Given the description of an element on the screen output the (x, y) to click on. 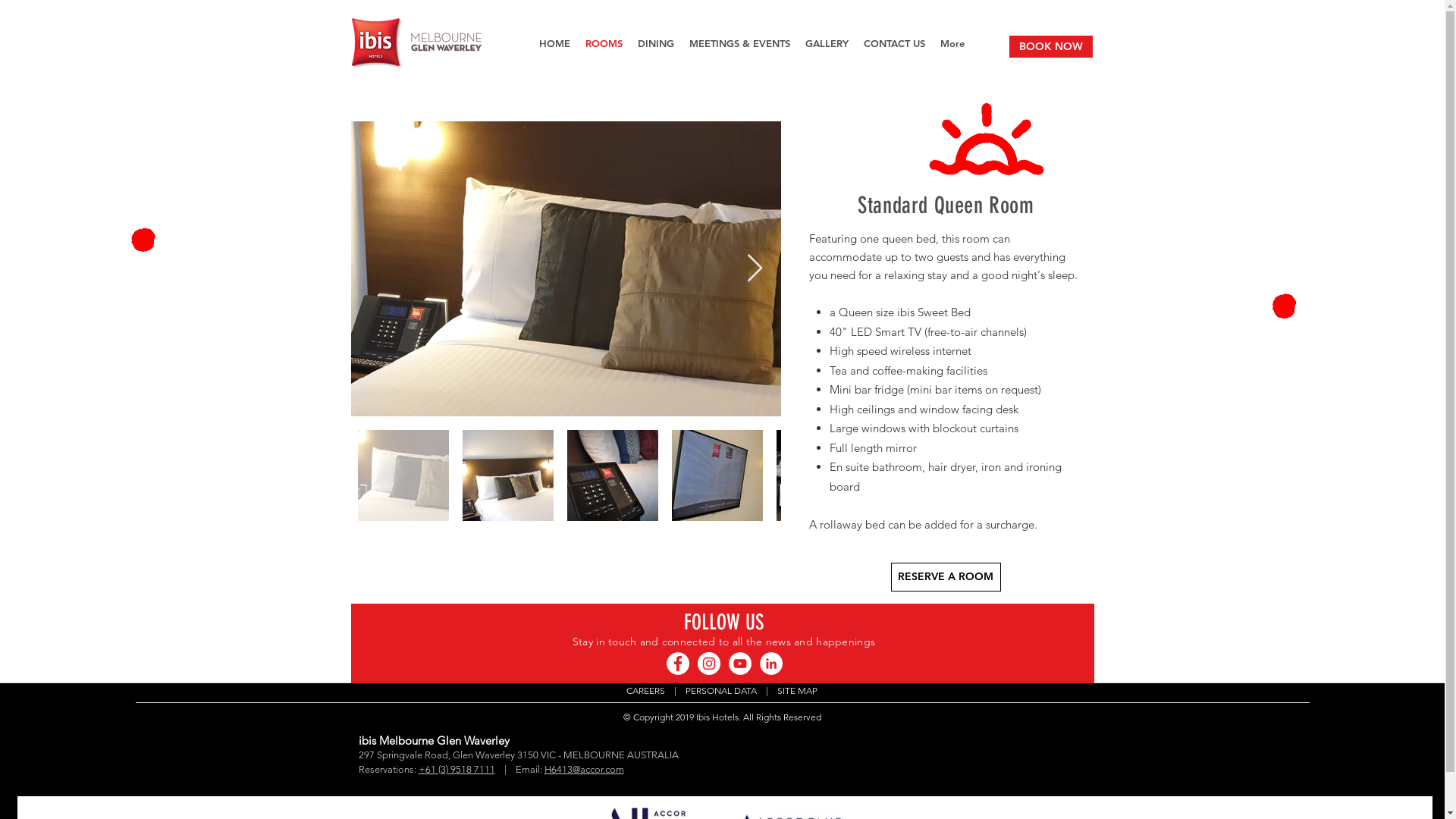
H6413@accor.com Element type: text (584, 769)
    PERSONAL DATA Element type: text (716, 690)
CONTACT US Element type: text (893, 47)
BOOK NOW Element type: text (1050, 46)
ROOMS Element type: text (603, 47)
| Element type: text (675, 690)
RESERVE A ROOM Element type: text (945, 576)
MEETINGS & EVENTS Element type: text (738, 47)
SITE MAP Element type: text (797, 690)
     Element type: text (669, 690)
DINING Element type: text (654, 47)
HOME Element type: text (553, 47)
CAREERS Element type: text (645, 690)
GALLERY Element type: text (826, 47)
